Given the description of an element on the screen output the (x, y) to click on. 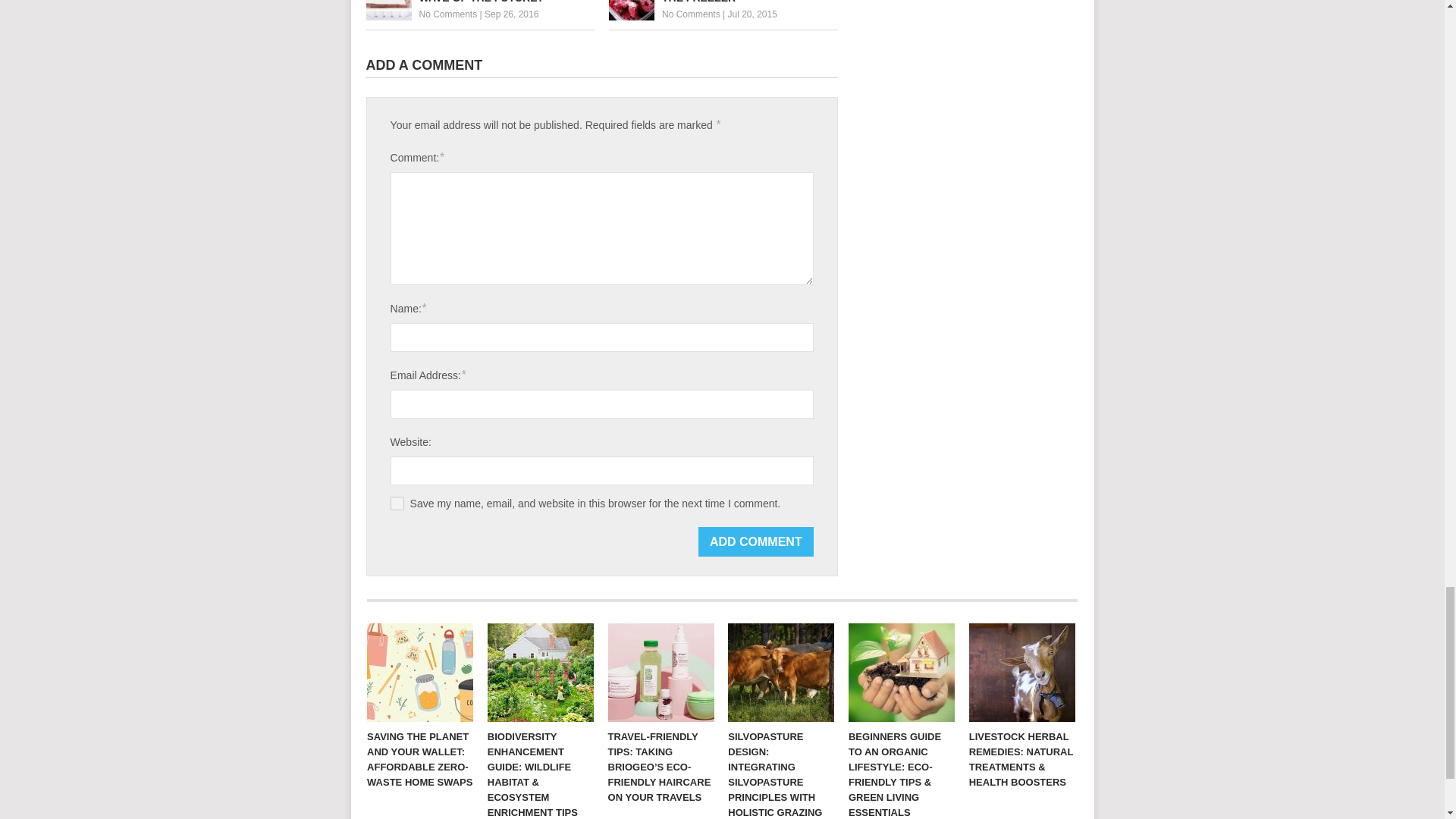
Add Comment (755, 541)
yes (397, 503)
